Given the description of an element on the screen output the (x, y) to click on. 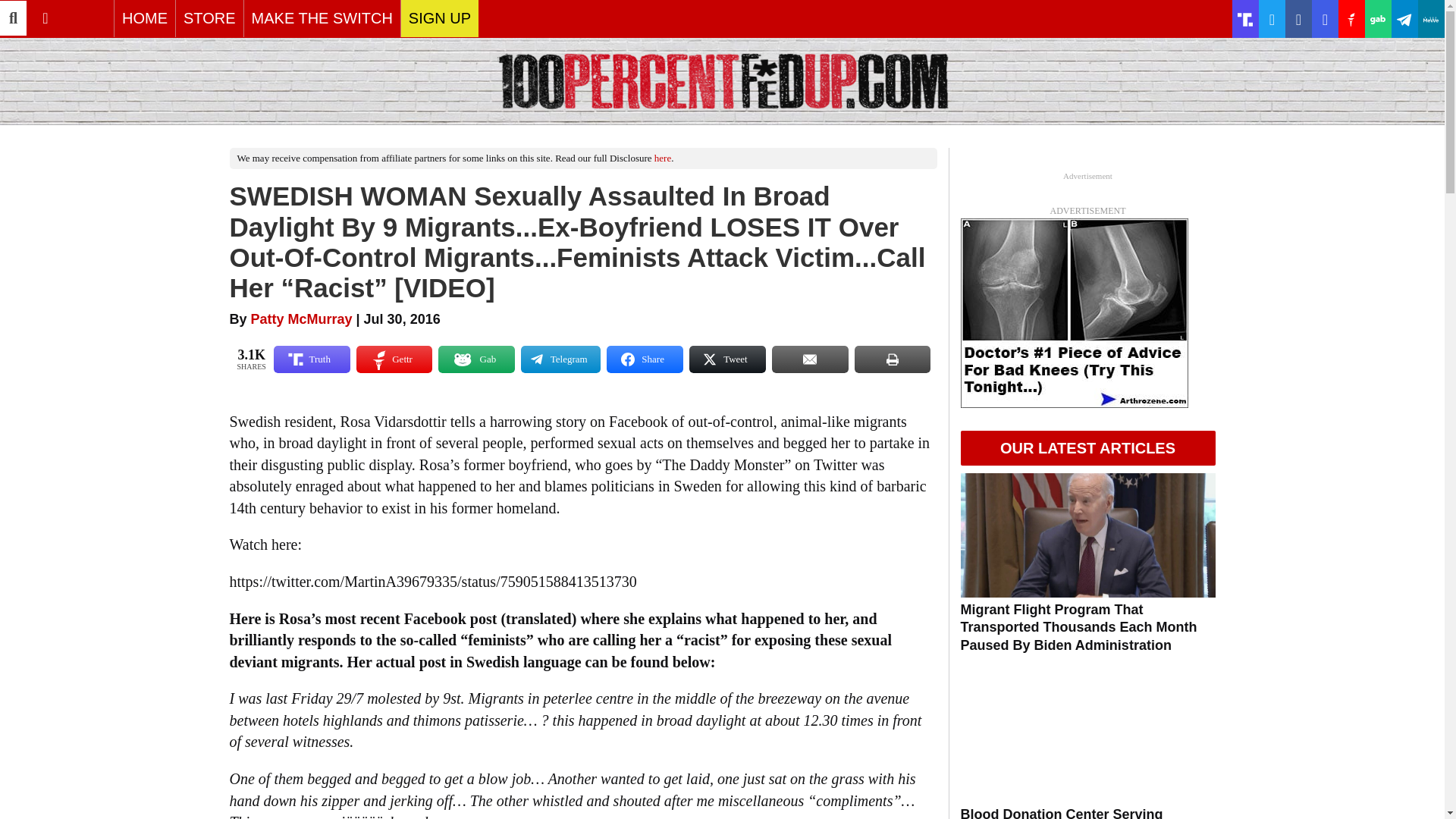
Share on Truth (311, 359)
Tweet (726, 359)
Share on Tweet (726, 359)
HOME (144, 18)
MAKE THE SWITCH (322, 18)
Truth (311, 359)
Share on Gab (476, 359)
SIGN UP (440, 18)
Share on Telegram (560, 359)
Share on Share (644, 359)
